Given the description of an element on the screen output the (x, y) to click on. 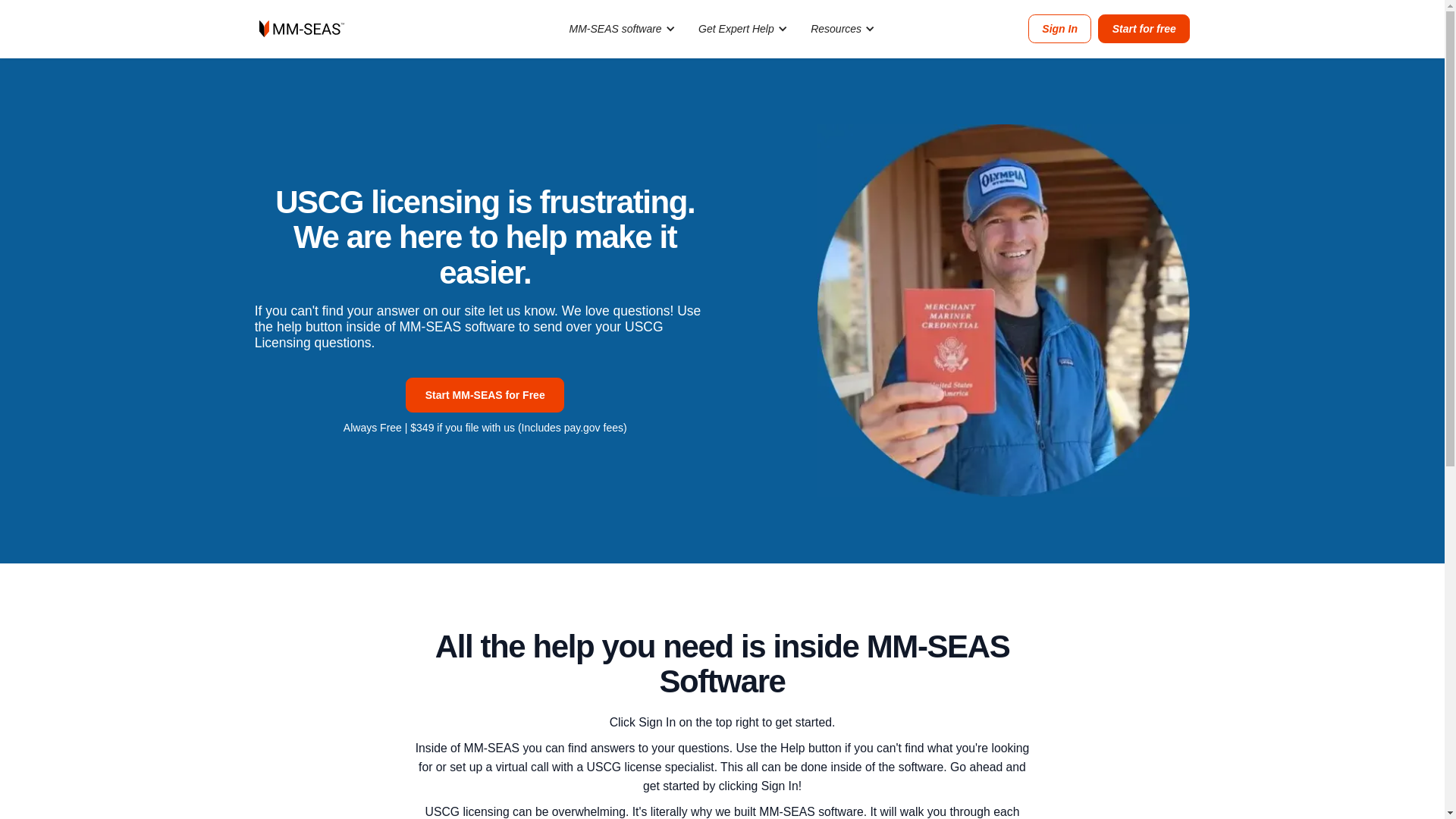
Start for free (1143, 28)
Sign In (1059, 28)
Start MM-SEAS for Free (485, 394)
